Given the description of an element on the screen output the (x, y) to click on. 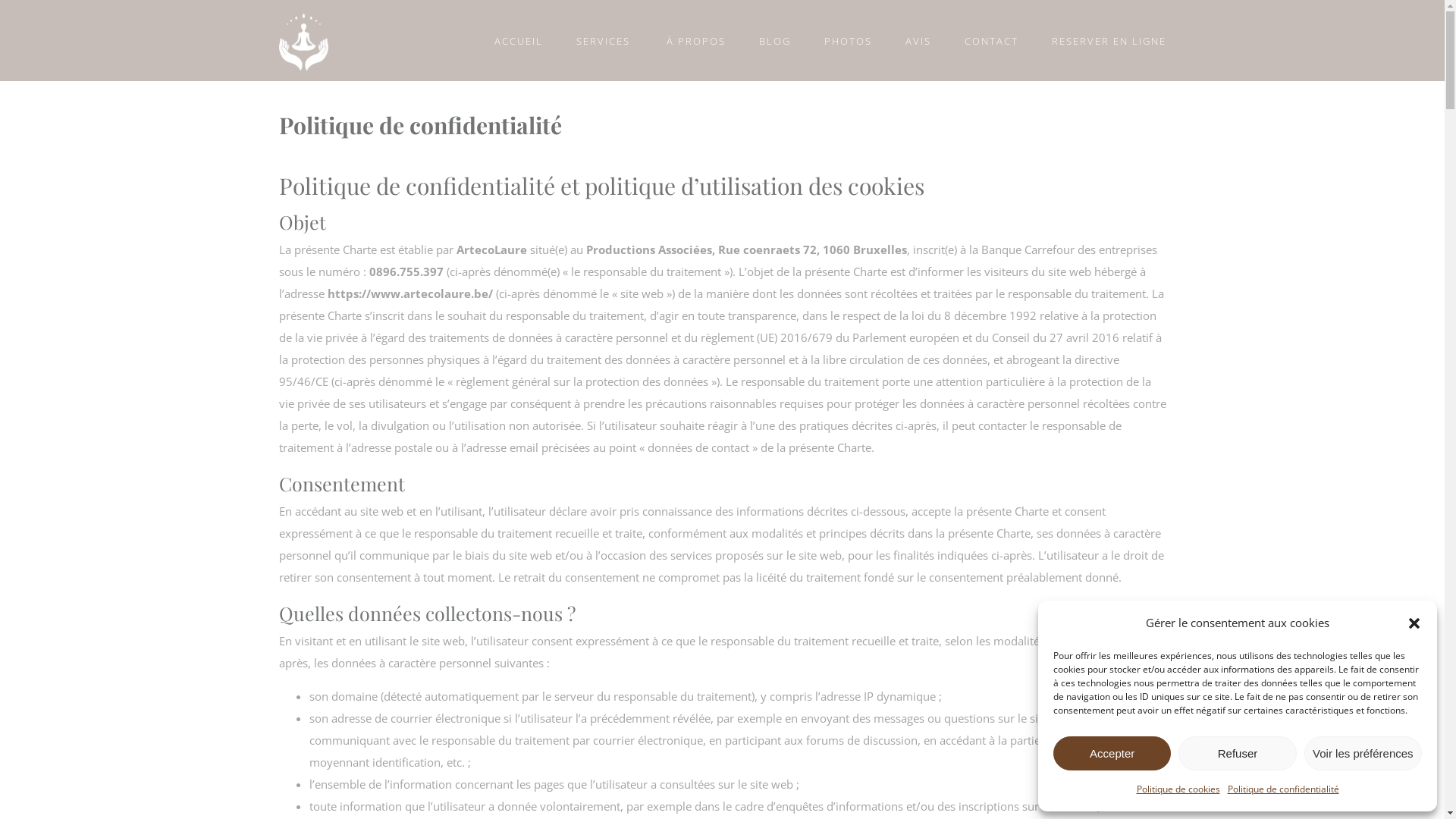
Accepter Element type: text (1111, 753)
Refuser Element type: text (1236, 753)
RESERVER EN LIGNE Element type: text (1108, 40)
SERVICES Element type: text (603, 40)
ACCUEIL Element type: text (518, 40)
PHOTOS Element type: text (847, 40)
CONTACT Element type: text (991, 40)
BLOG Element type: text (774, 40)
AVIS Element type: text (918, 40)
Politique de cookies Element type: text (1177, 789)
https://www.artecolaure.be/ Element type: text (409, 293)
